Given the description of an element on the screen output the (x, y) to click on. 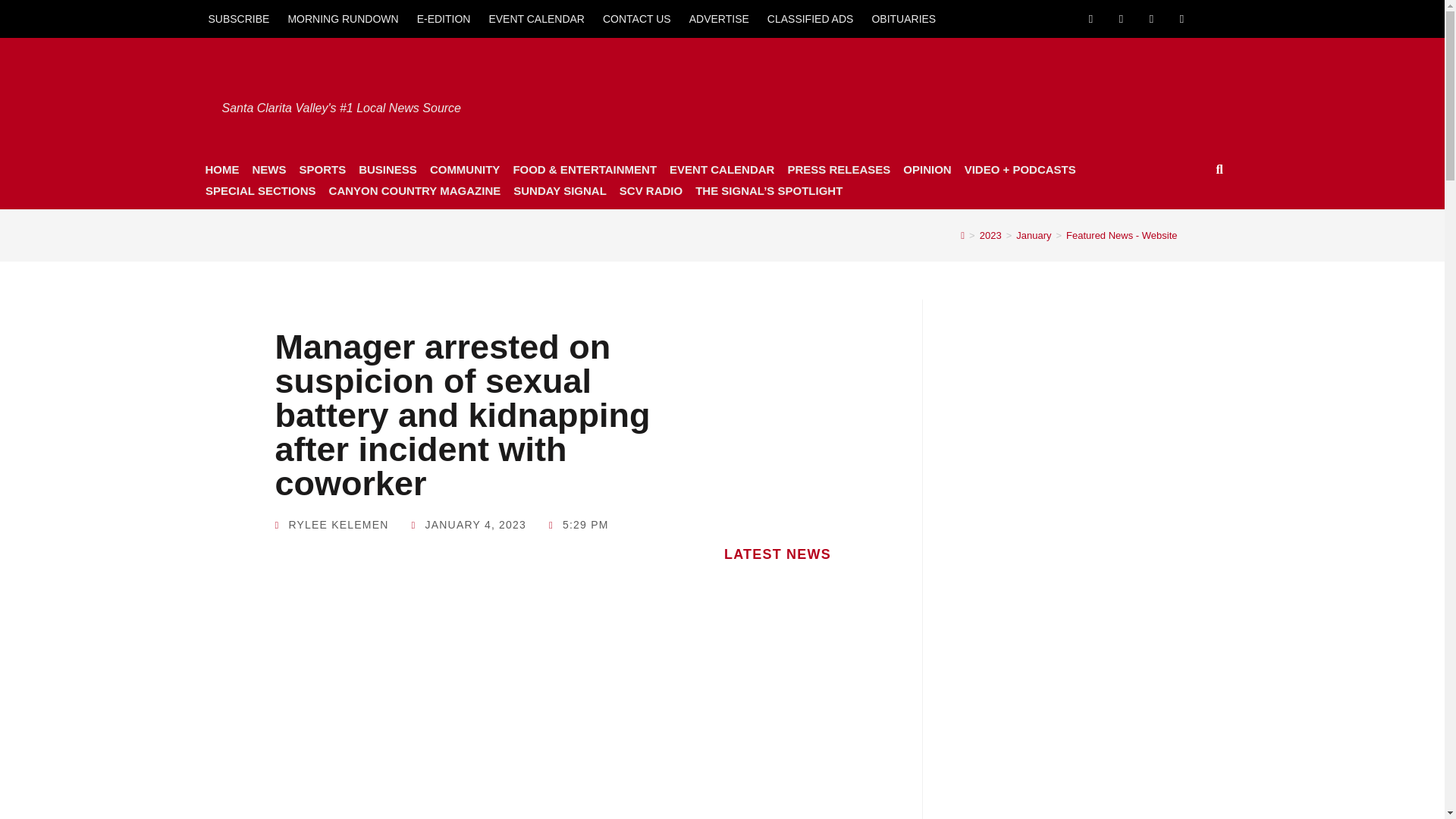
EVENT CALENDAR (536, 18)
SPORTS (322, 169)
NEWS (269, 169)
HOME (221, 169)
OBITUARIES (902, 18)
CONTACT US (636, 18)
MORNING RUNDOWN (342, 18)
CLASSIFIED ADS (810, 18)
ADVERTISE (718, 18)
SUBSCRIBE (238, 18)
